Given the description of an element on the screen output the (x, y) to click on. 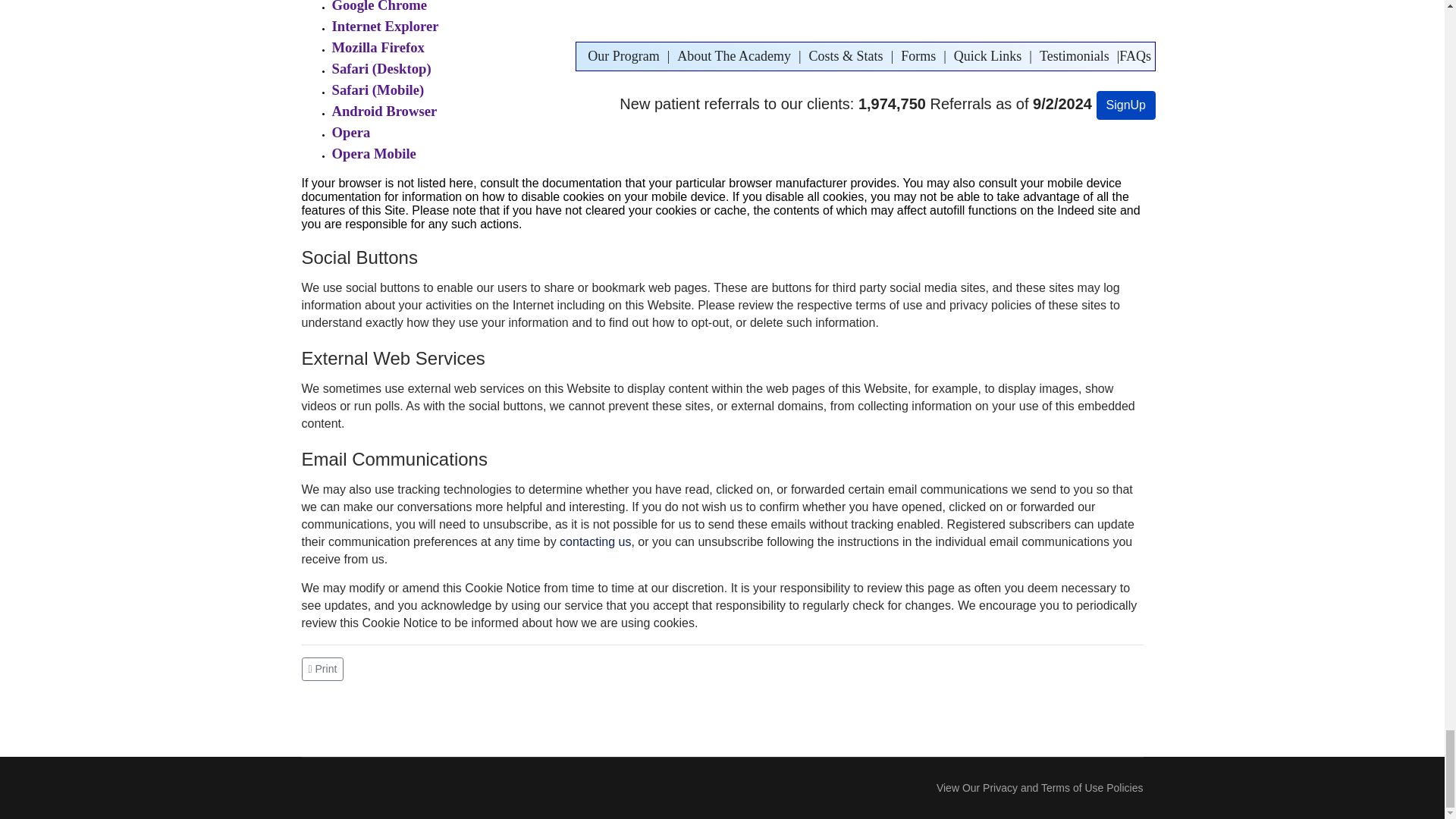
Print (324, 667)
Internet Explorer (385, 27)
Android Browser (384, 112)
Opera (351, 133)
contacting us (594, 542)
Opera Mobile (373, 154)
View Our Privacy and Terms of Use Policies (1039, 787)
Mozilla Firefox (378, 49)
Google Chrome (379, 6)
